Given the description of an element on the screen output the (x, y) to click on. 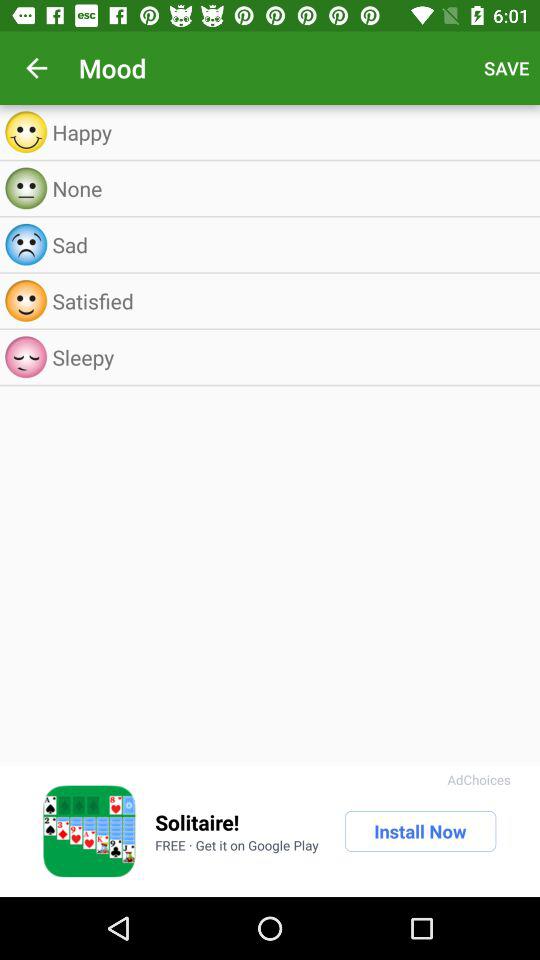
choose the icon above free get it (197, 822)
